Given the description of an element on the screen output the (x, y) to click on. 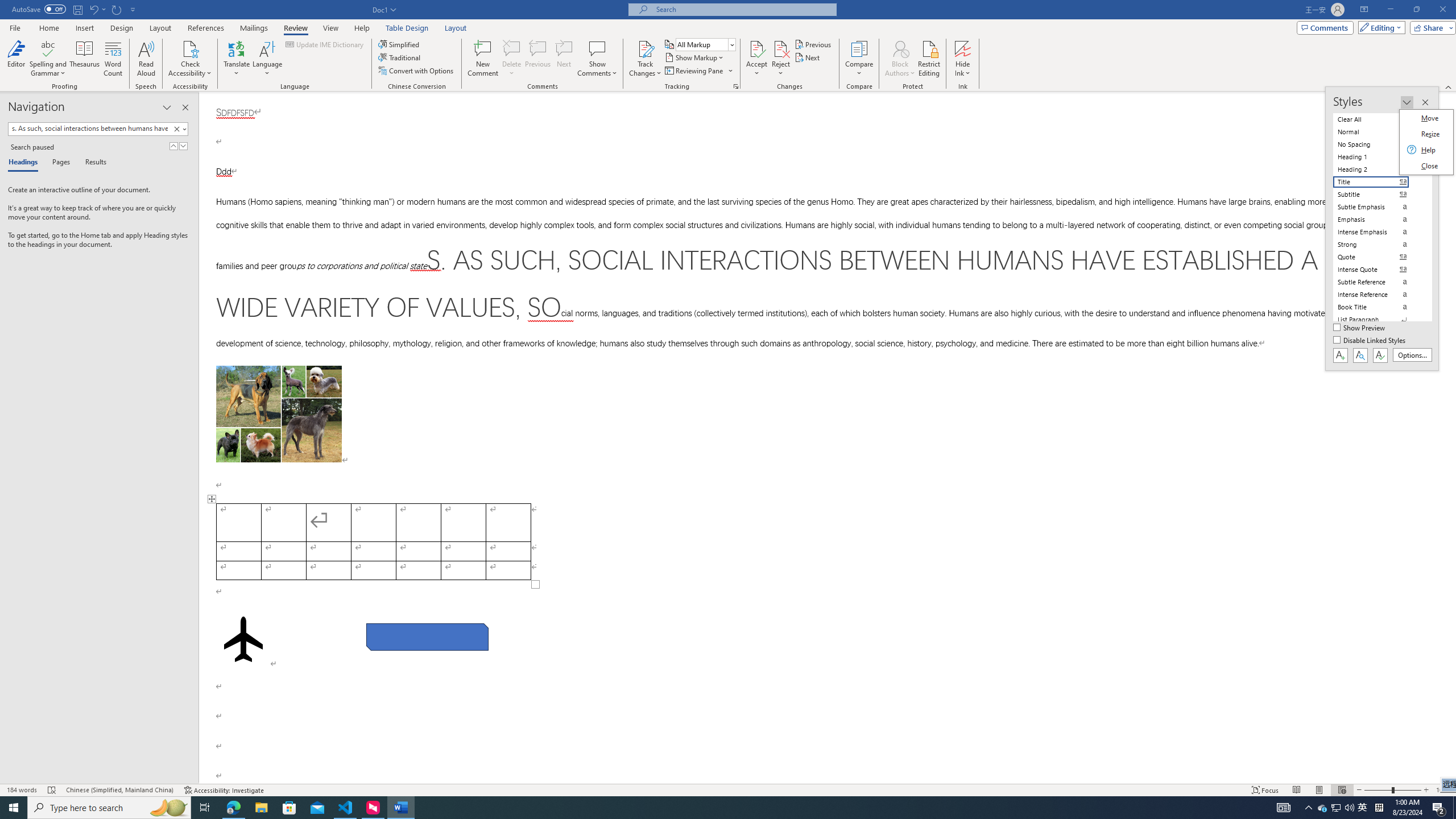
Undo Style (1362, 807)
Intense Reference (96, 9)
Track Changes (1377, 294)
Accept (644, 48)
Update IME Dictionary... (756, 58)
Subtle Emphasis (324, 44)
Clear (1377, 206)
Read Aloud (178, 128)
Block Authors (145, 58)
